Given the description of an element on the screen output the (x, y) to click on. 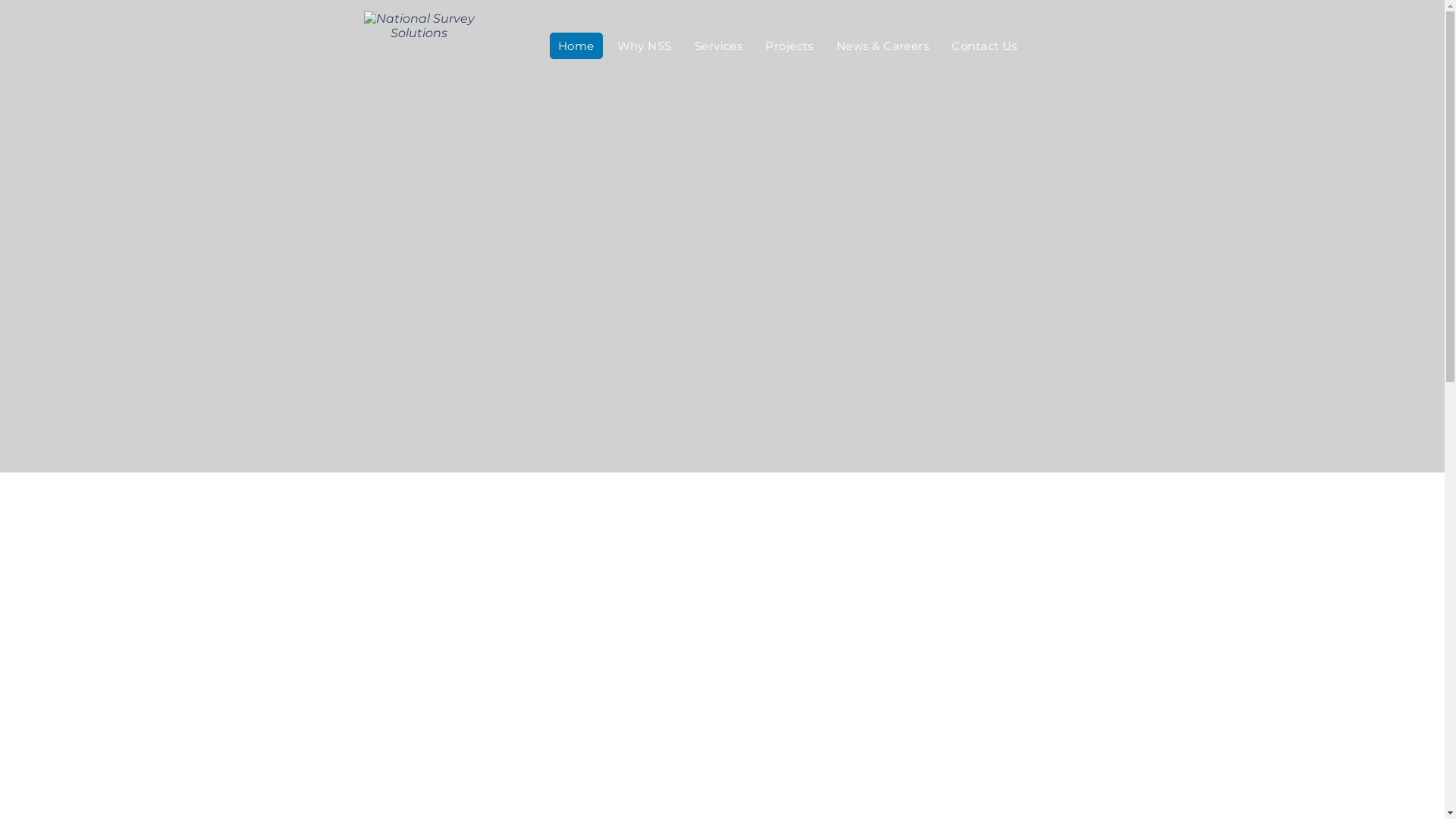
Services Element type: text (718, 45)
Home Element type: text (575, 45)
News & Careers Element type: text (882, 45)
Contact Us Element type: text (984, 45)
Why NSS Element type: text (644, 45)
Projects Element type: text (789, 45)
